Given the description of an element on the screen output the (x, y) to click on. 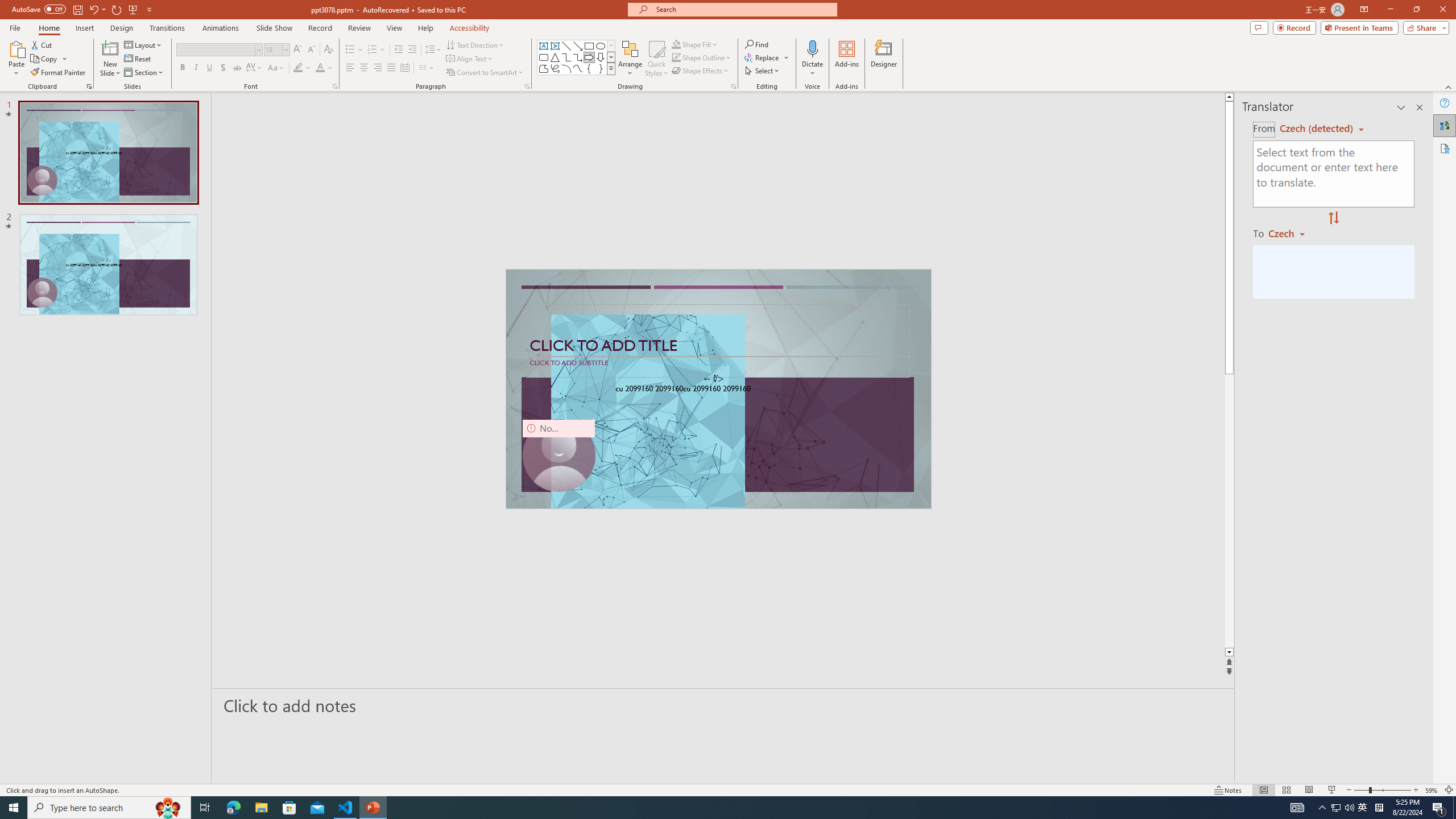
Distributed (404, 67)
Underline (209, 67)
Clear Formatting (327, 49)
Shape Effects (700, 69)
Office Clipboard... (88, 85)
Character Spacing (254, 67)
Font... (334, 85)
